Given the description of an element on the screen output the (x, y) to click on. 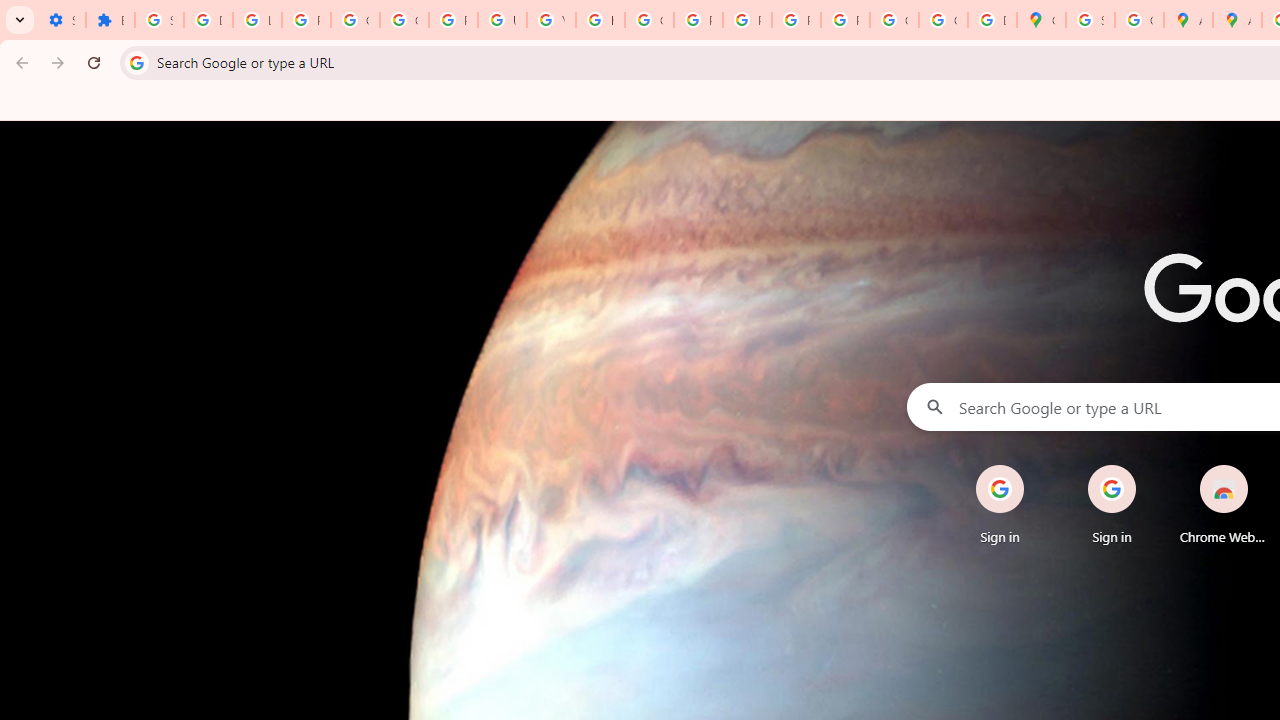
Google Account Help (355, 20)
